Given the description of an element on the screen output the (x, y) to click on. 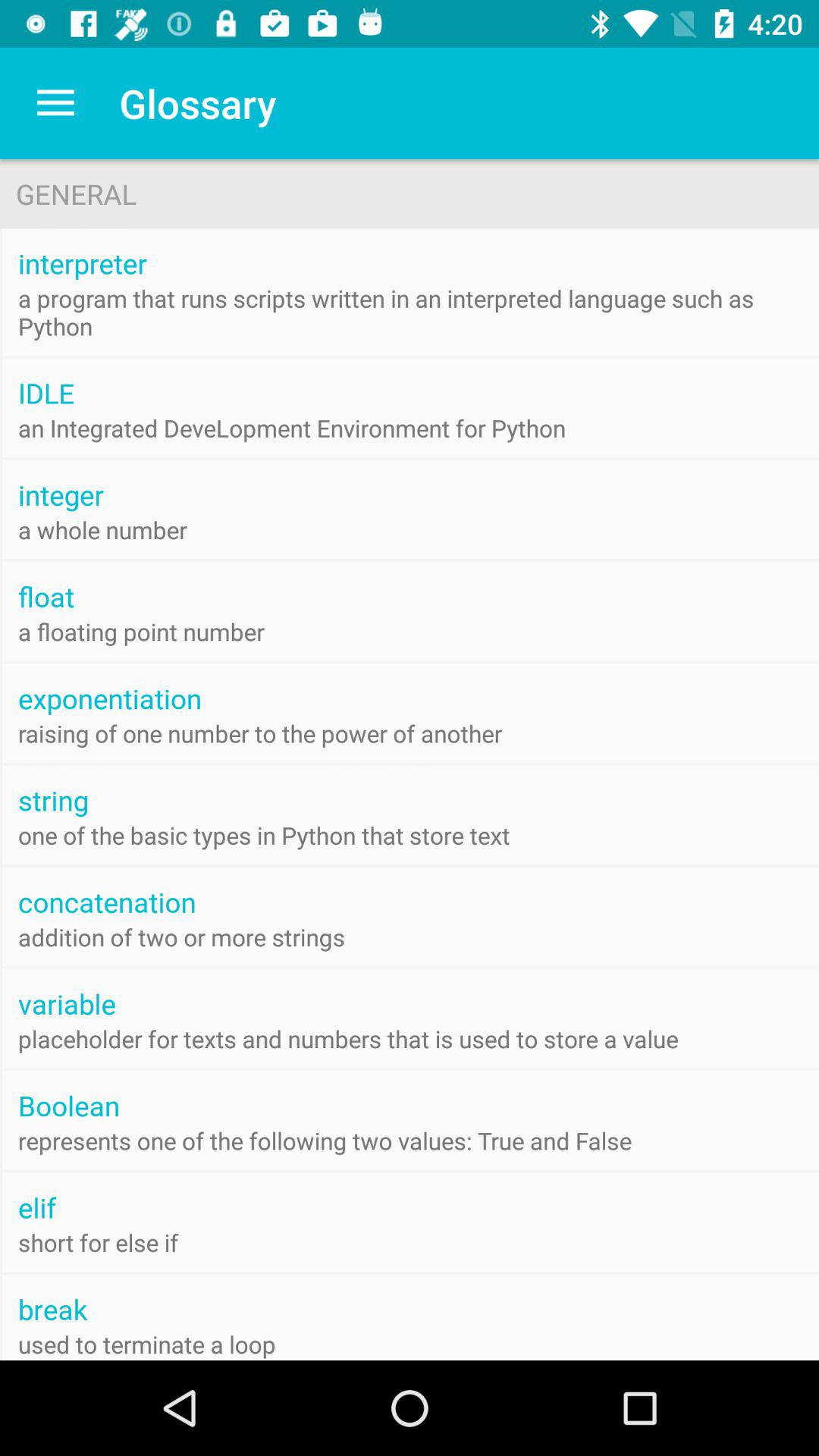
press icon next to the glossary icon (55, 103)
